Given the description of an element on the screen output the (x, y) to click on. 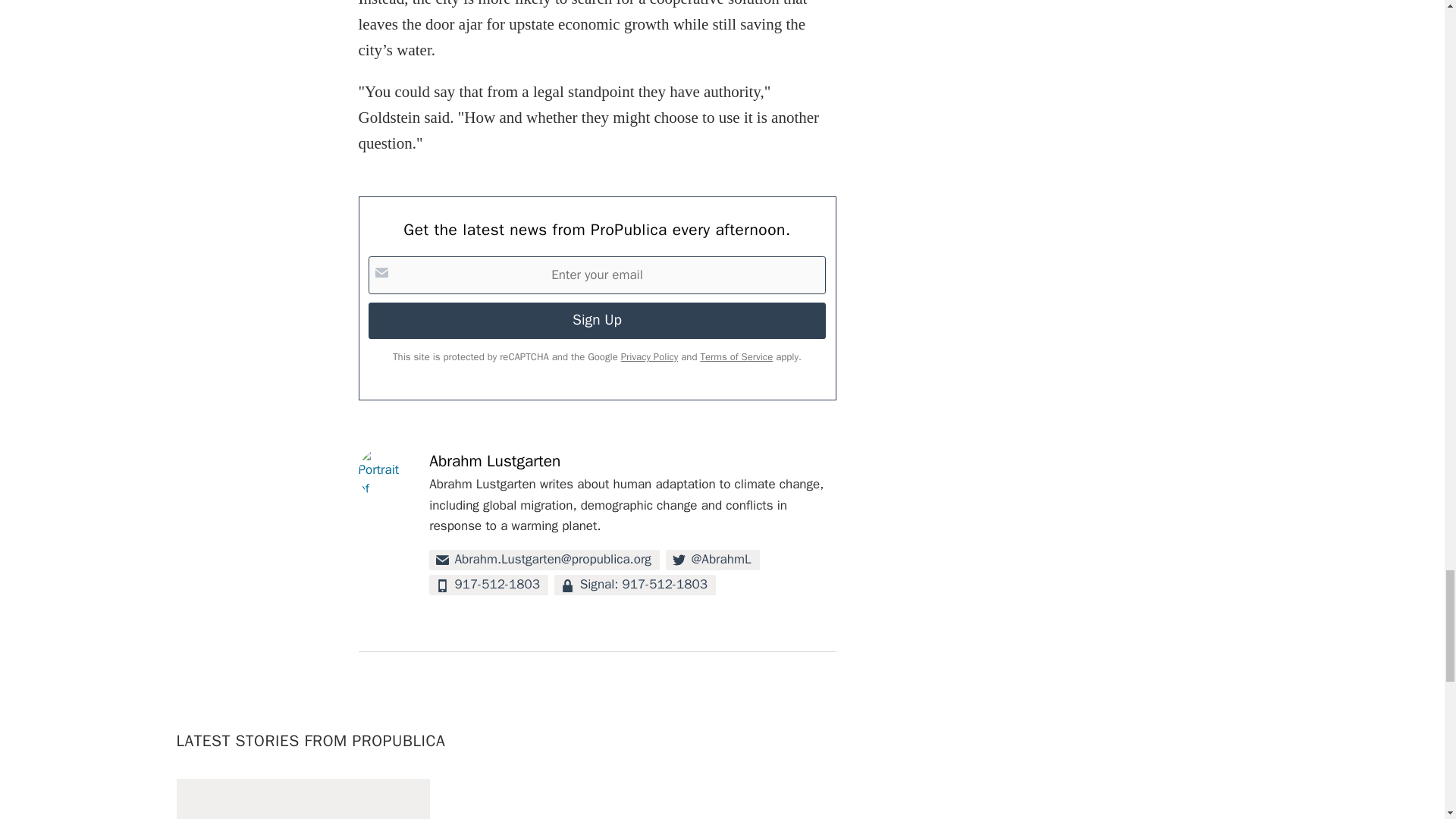
Phone (488, 584)
Terms of Service (736, 356)
Privacy Policy (649, 356)
Sign Up (596, 320)
Sign Up (596, 320)
Email (544, 559)
Twitter (711, 559)
